Given the description of an element on the screen output the (x, y) to click on. 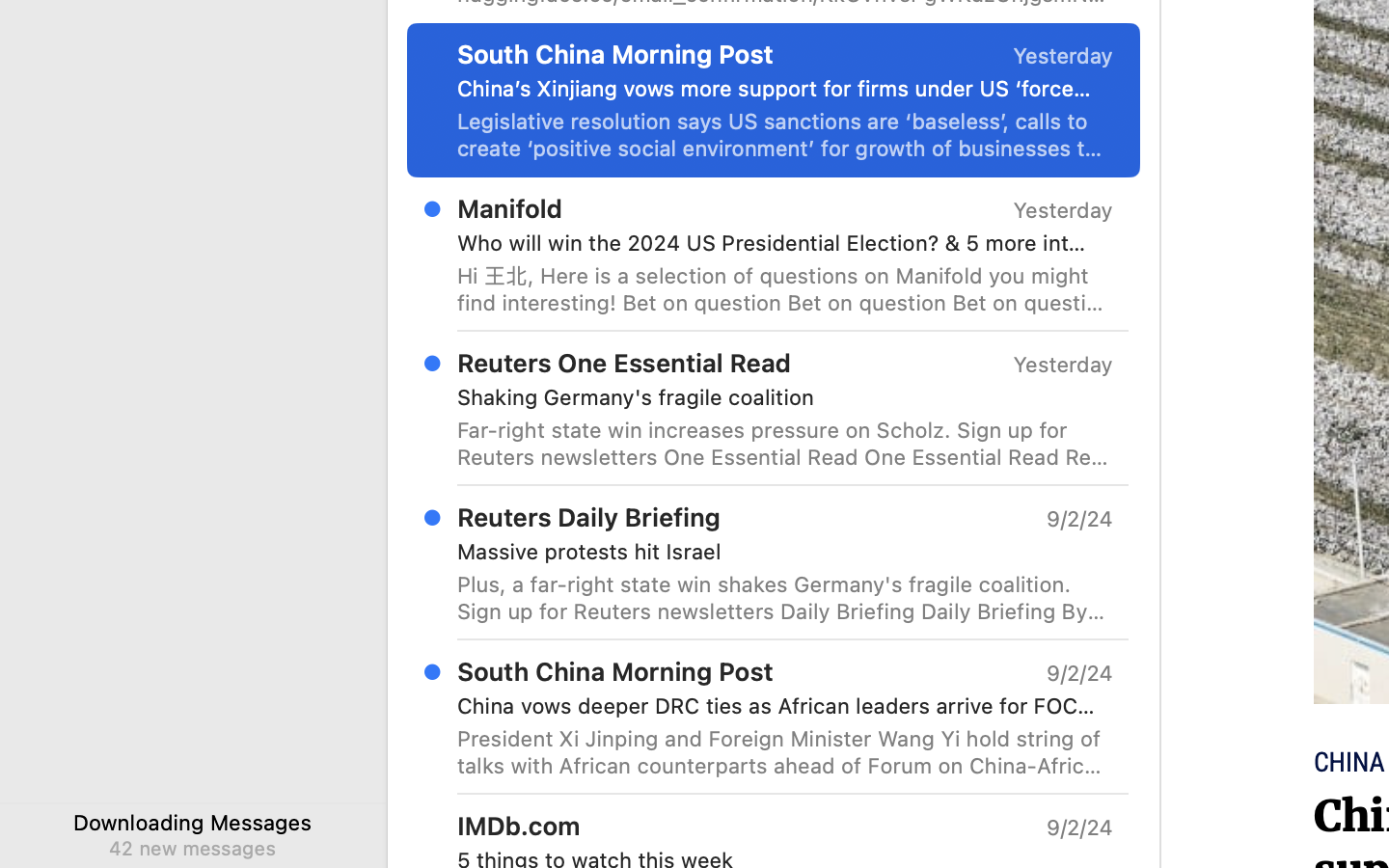
Reuters One Essential Read Element type: AXStaticText (623, 362)
Reuters Daily Briefing Element type: AXStaticText (589, 516)
Downloading Messages Element type: AXStaticText (192, 821)
Legislative resolution says US sanctions are ‘baseless’, calls to create ‘positive social environment’ for growth of businesses targeted. - South China Morning Post, SCMP, SCMP Today: Intl Edition - Legislative resolution says US sanctions are ‘baseless’, calls to create ‘positive social environment’ for growth of businesses targeted. Tuesday 3rd September, 2024 China politics & diplomacy ChinaChina’s Xinjiang vows more support for firms under US ‘forced labour’ sanctions3 Sep, 2024 - 04:36 pmLegislative resolution says US sanctions are ‘baseless’, calls to create ‘positive social environment’ for growth of businesses targeted. China11 dead in eastern China, driver detained after bus hits crowd outside school3 Sep, 2024 - 04:43 pm ChinaChinese researchers’ implant genetically modifies brain cells for neuron growth3 Sep, 2024 - 04:06 pm Featured Podcast3. Millennials, GenZ and hire education Video Of The Day China and Singapore embark on bigger joint navy exercise as South China Sea ten Element type: AXStaticText (784, 135)
Far-right state win increases pressure on Scholz. Sign up for Reuters newsletters One Essential Read One Essential Read Recommended by Edson Caldas, Newsletter Editor Pressure mounts on Scholz Right-wing Alternative for Germany top candidate Bjoern Hoecke on the day of the Thuringia state election. REUTERS/Wolfgang Rattay The Alternative for Germany is on track to become the first far-right party to win a regional election in Germany since World War Two, dealing a blow to parties in Chancellor Olaf Scholz's government. The results are likely to aggravate instability in an already fractious ruling coalition, Chief Correspondent Sarah Marsh reports. The German government's faltering authority could also complicate European policy when the bloc's other major power France is still struggling to form a government. Read the full article Sponsors are not involved in the creation of newsletters or other Reuters news content. Advertise in this newsletter or on Reuters.com Reuters One Essential R Element type: AXStaticText (784, 443)
